Given the description of an element on the screen output the (x, y) to click on. 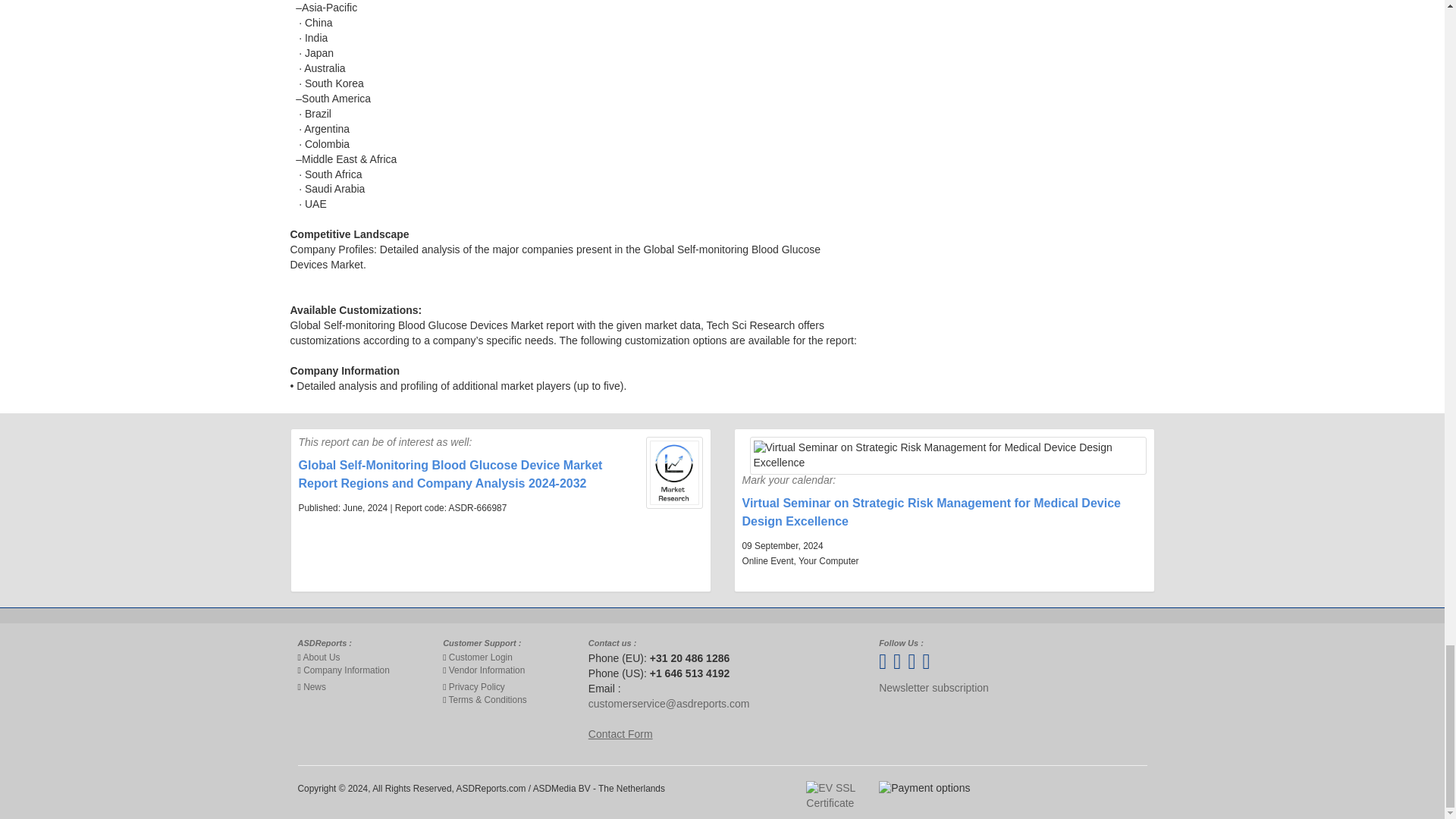
About Us - ASDReports (321, 656)
